Given the description of an element on the screen output the (x, y) to click on. 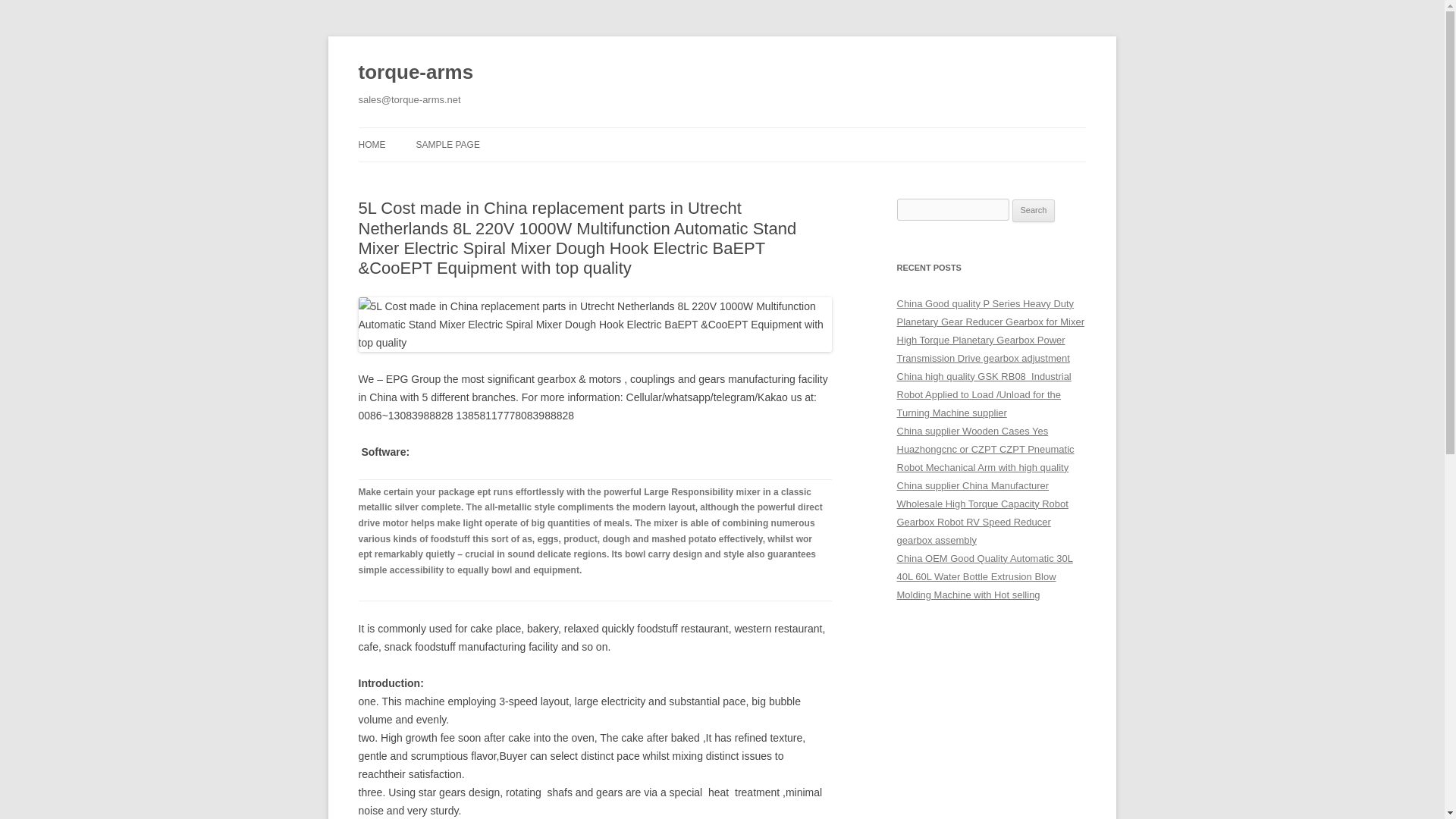
torque-arms (415, 72)
SAMPLE PAGE (446, 144)
Search (1033, 210)
torque-arms (415, 72)
Search (1033, 210)
